Given the description of an element on the screen output the (x, y) to click on. 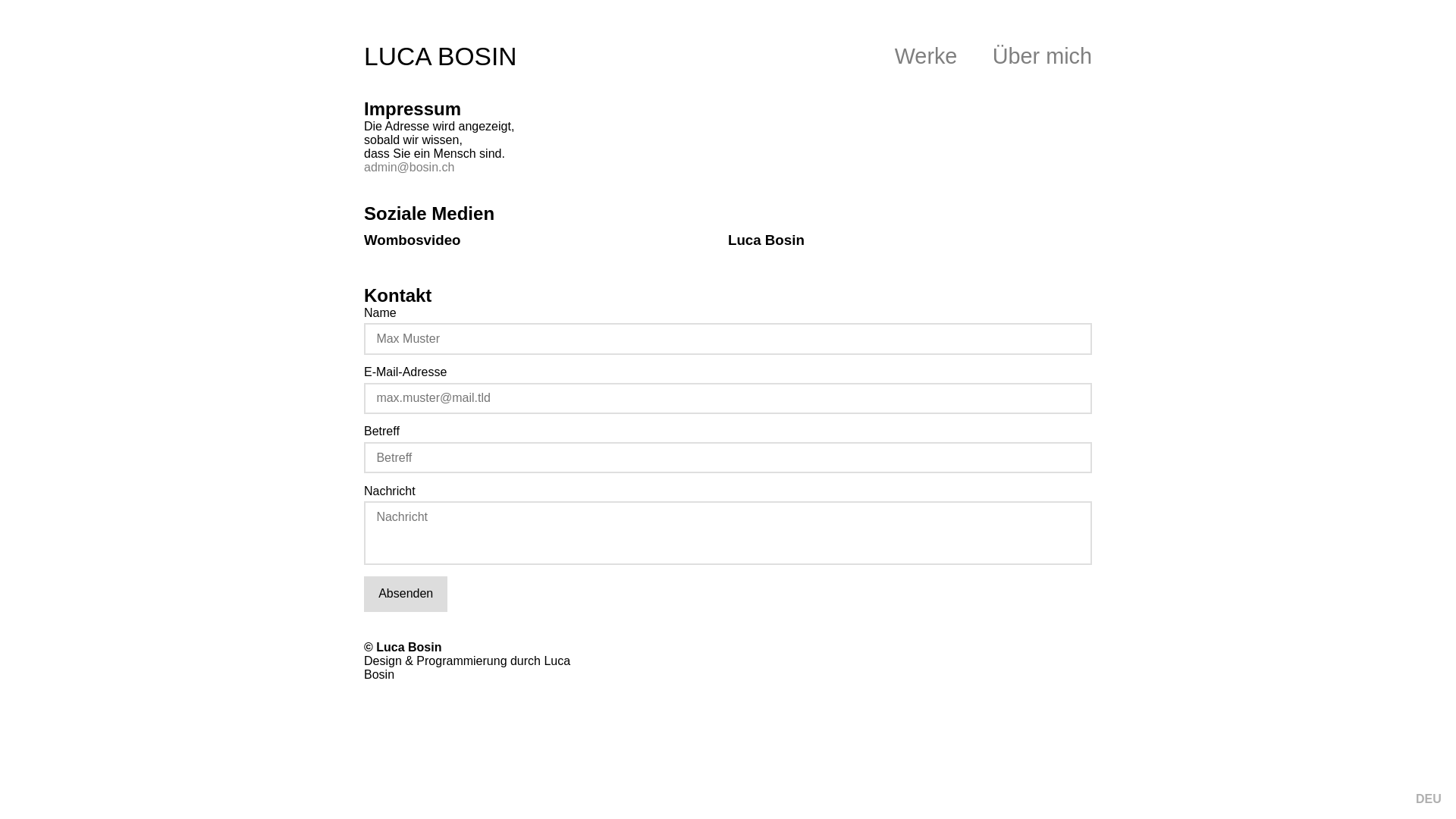
Werke Element type: text (928, 55)
LUCA BOSIN Element type: text (440, 56)
DEU Element type: text (1428, 798)
Absenden Element type: text (405, 593)
